Given the description of an element on the screen output the (x, y) to click on. 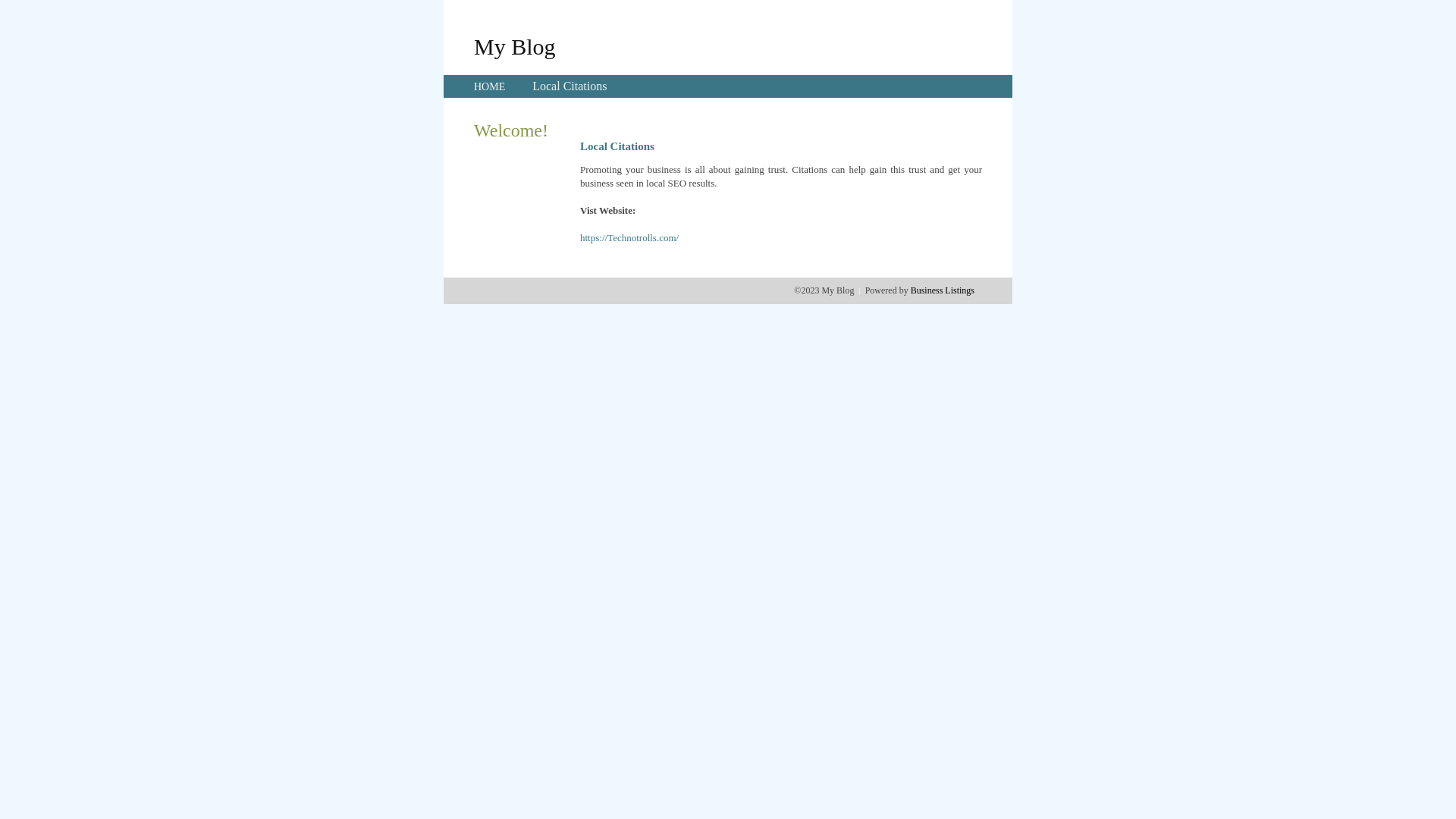
Business Listings Element type: text (942, 290)
Local Citations Element type: text (569, 85)
HOME Element type: text (489, 86)
My Blog Element type: text (514, 46)
https://Technotrolls.com/ Element type: text (629, 237)
